Given the description of an element on the screen output the (x, y) to click on. 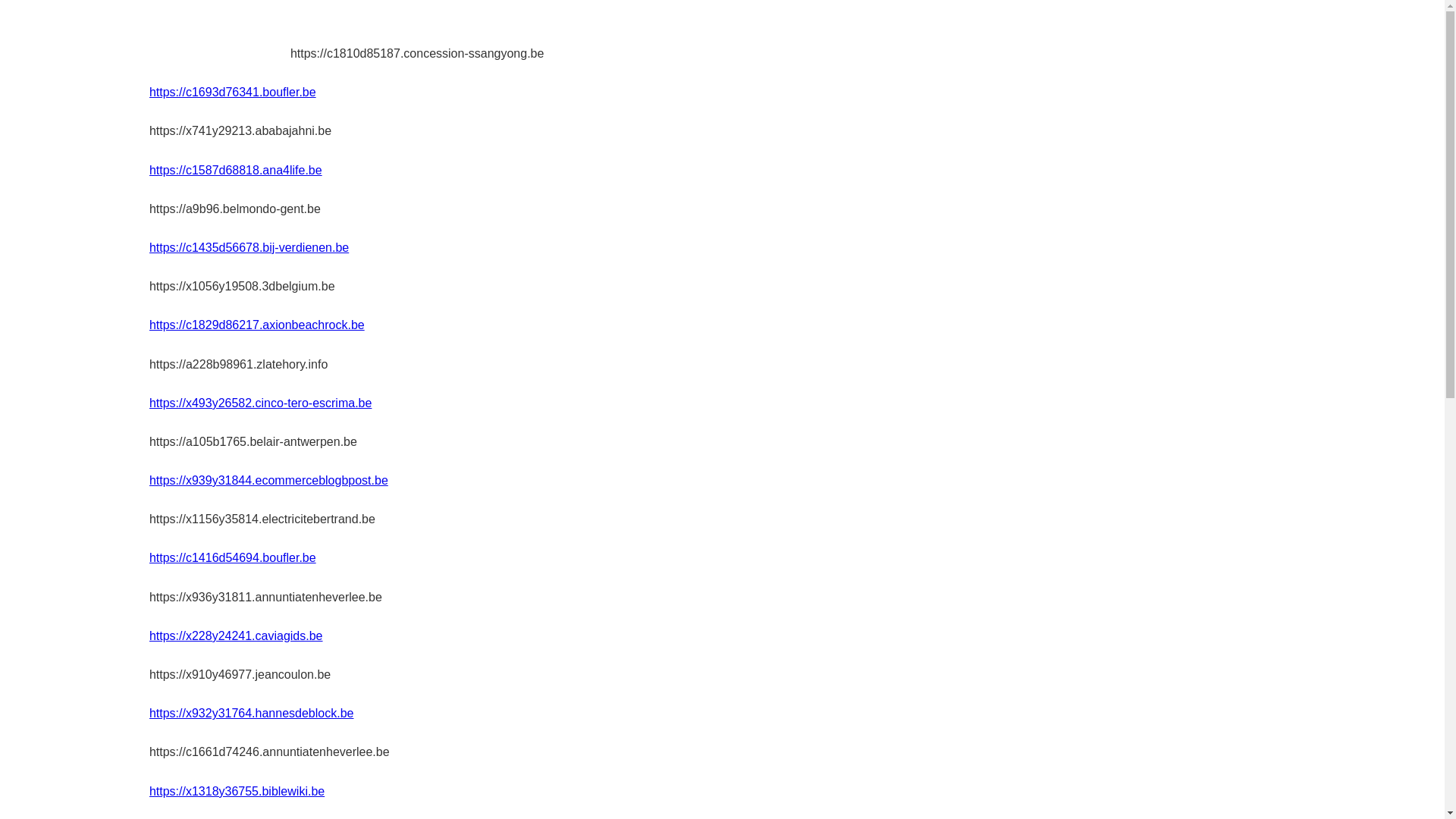
https://c1435d56678.bij-verdienen.be Element type: text (248, 247)
https://c1416d54694.boufler.be Element type: text (232, 557)
https://c1587d68818.ana4life.be Element type: text (235, 169)
brasseriebreughel.be Element type: text (219, 34)
https://x493y26582.cinco-tero-escrima.be Element type: text (260, 402)
https://x939y31844.ecommerceblogbpost.be Element type: text (268, 479)
https://x1318y36755.biblewiki.be Element type: text (236, 790)
https://c1829d86217.axionbeachrock.be Element type: text (256, 324)
https://x932y31764.hannesdeblock.be Element type: text (251, 712)
https://c1693d76341.boufler.be Element type: text (232, 91)
https://x228y24241.caviagids.be Element type: text (236, 635)
